Given the description of an element on the screen output the (x, y) to click on. 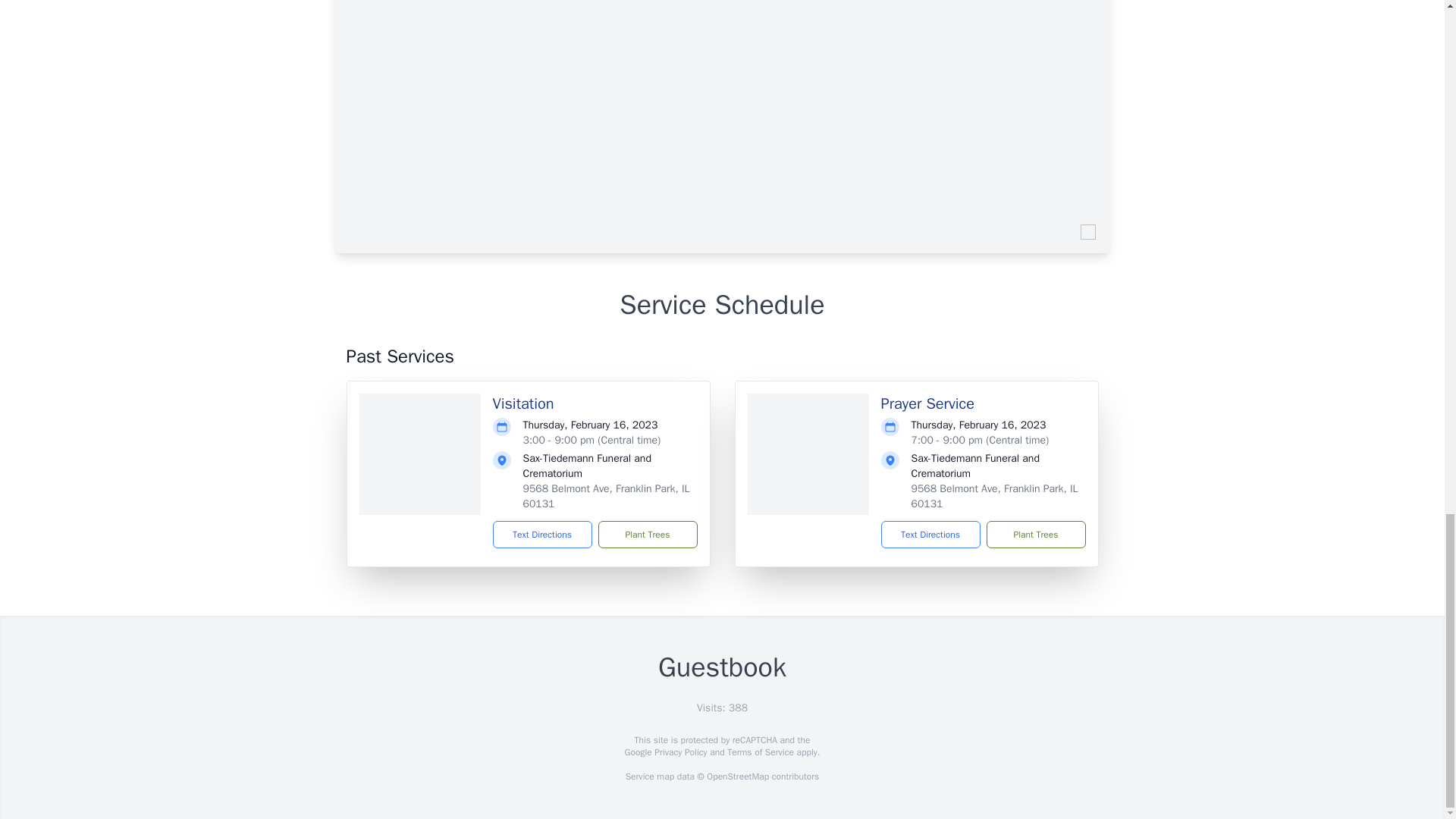
Text Directions (542, 533)
Text Directions (929, 533)
9568 Belmont Ave, Franklin Park, IL 60131 (994, 496)
Privacy Policy (679, 752)
9568 Belmont Ave, Franklin Park, IL 60131 (606, 496)
Plant Trees (646, 533)
OpenStreetMap (737, 776)
Terms of Service (759, 752)
Plant Trees (1034, 533)
